Given the description of an element on the screen output the (x, y) to click on. 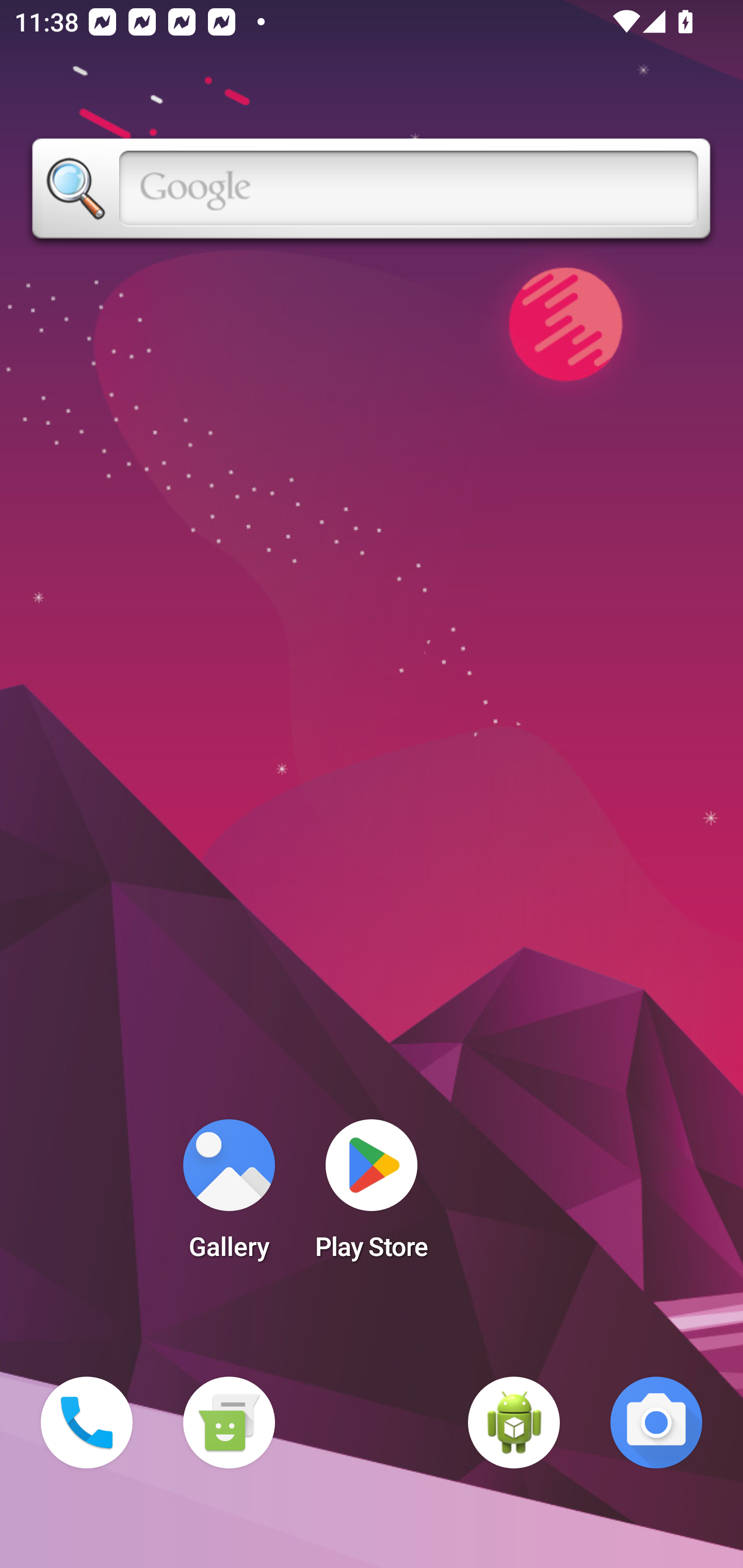
Gallery (228, 1195)
Play Store (371, 1195)
Phone (86, 1422)
Messaging (228, 1422)
WebView Browser Tester (513, 1422)
Camera (656, 1422)
